Given the description of an element on the screen output the (x, y) to click on. 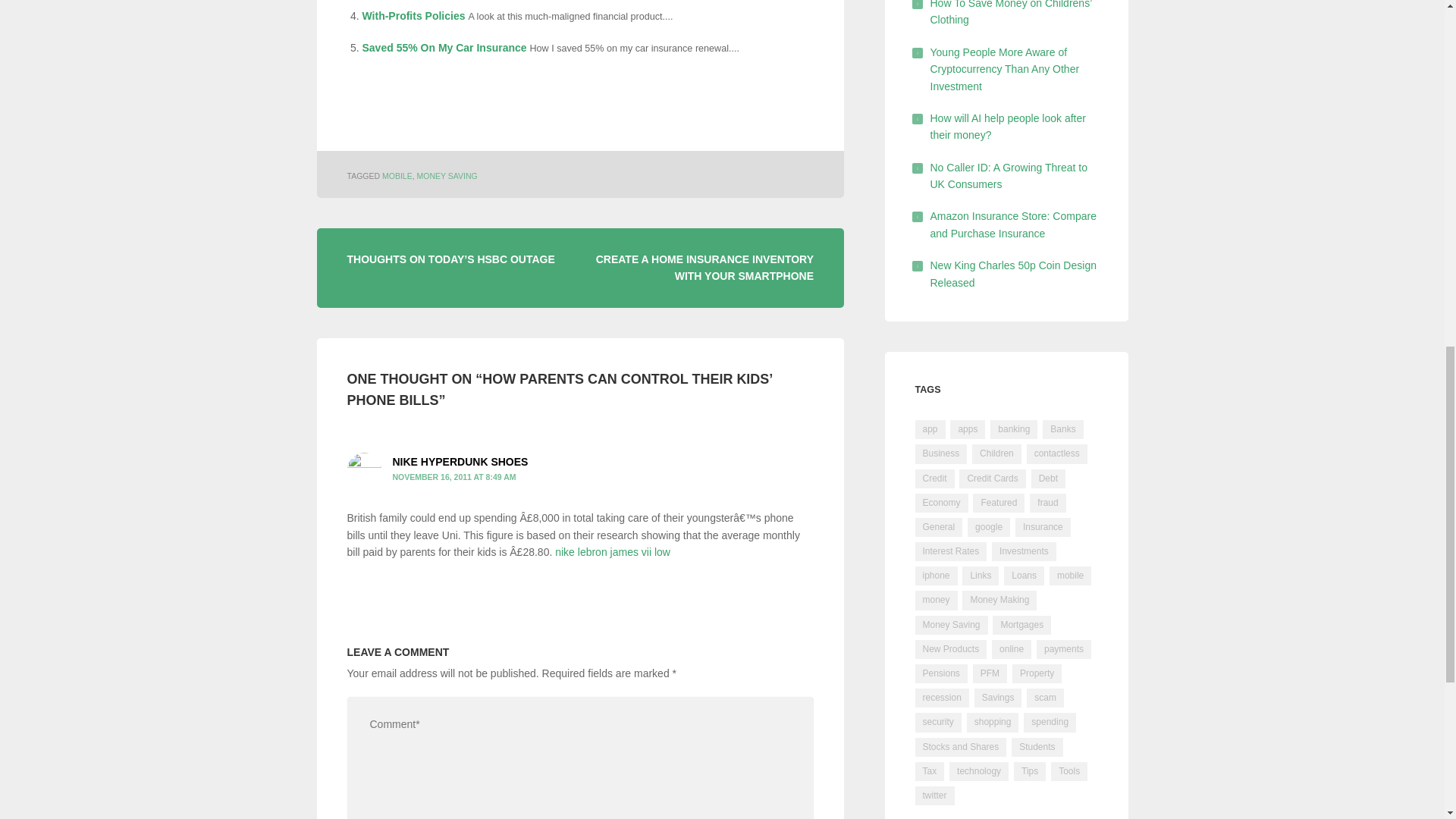
How will AI help people look after their money? (1007, 126)
No Caller ID: A Growing Threat to UK Consumers (1008, 175)
NIKE HYPERDUNK SHOES (460, 461)
nike lebron james vii low (611, 551)
NOVEMBER 16, 2011 AT 8:49 AM (454, 476)
MOBILE (396, 175)
With-Profits Policies (413, 15)
With-Profits Policies (413, 15)
MONEY SAVING (446, 175)
